Given the description of an element on the screen output the (x, y) to click on. 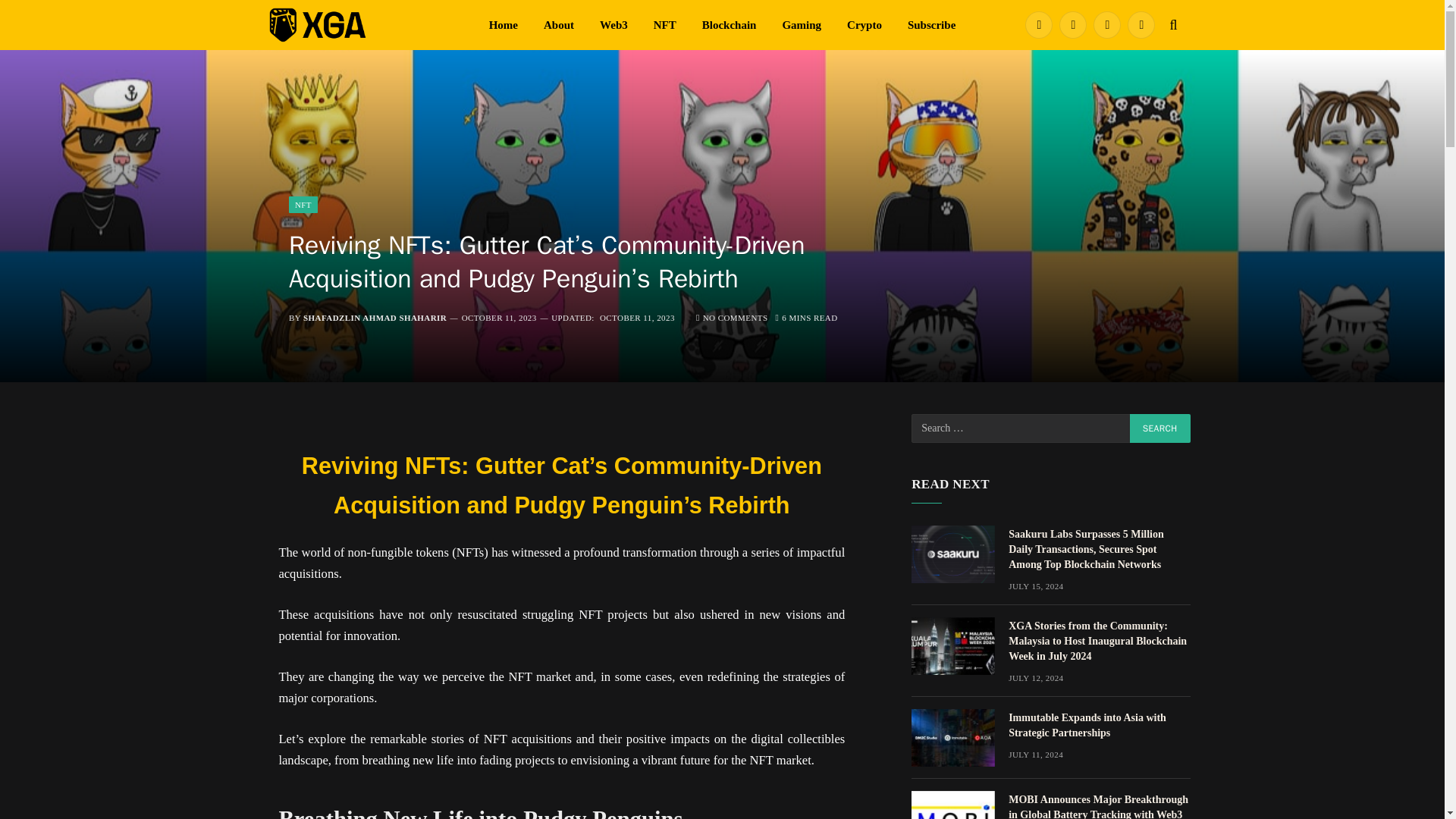
NO COMMENTS (731, 317)
Twitter (1072, 24)
NFT (664, 24)
Instagram (1140, 24)
XGA Academy (365, 24)
Search (1160, 428)
Crypto (864, 24)
Subscribe (931, 24)
Facebook (1038, 24)
Search (1160, 428)
Home (503, 24)
TikTok (1107, 24)
About (558, 24)
SHAFADZLIN AHMAD SHAHARIR (374, 317)
Blockchain (729, 24)
